Given the description of an element on the screen output the (x, y) to click on. 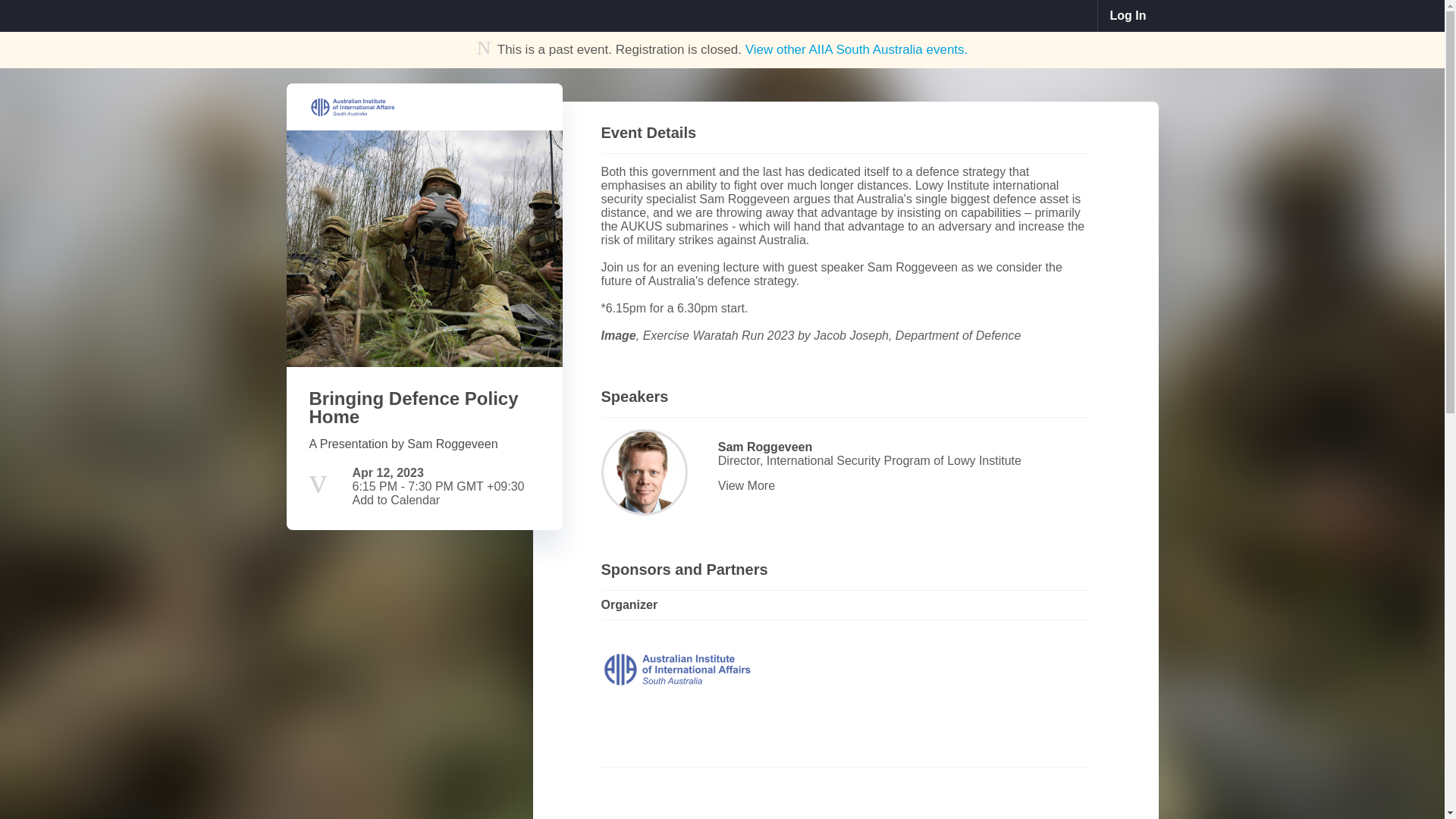
Log In (1127, 15)
Sign in (1127, 15)
Add to Calendar (395, 499)
View other AIIA South Australia events. (856, 49)
View More (900, 486)
